Given the description of an element on the screen output the (x, y) to click on. 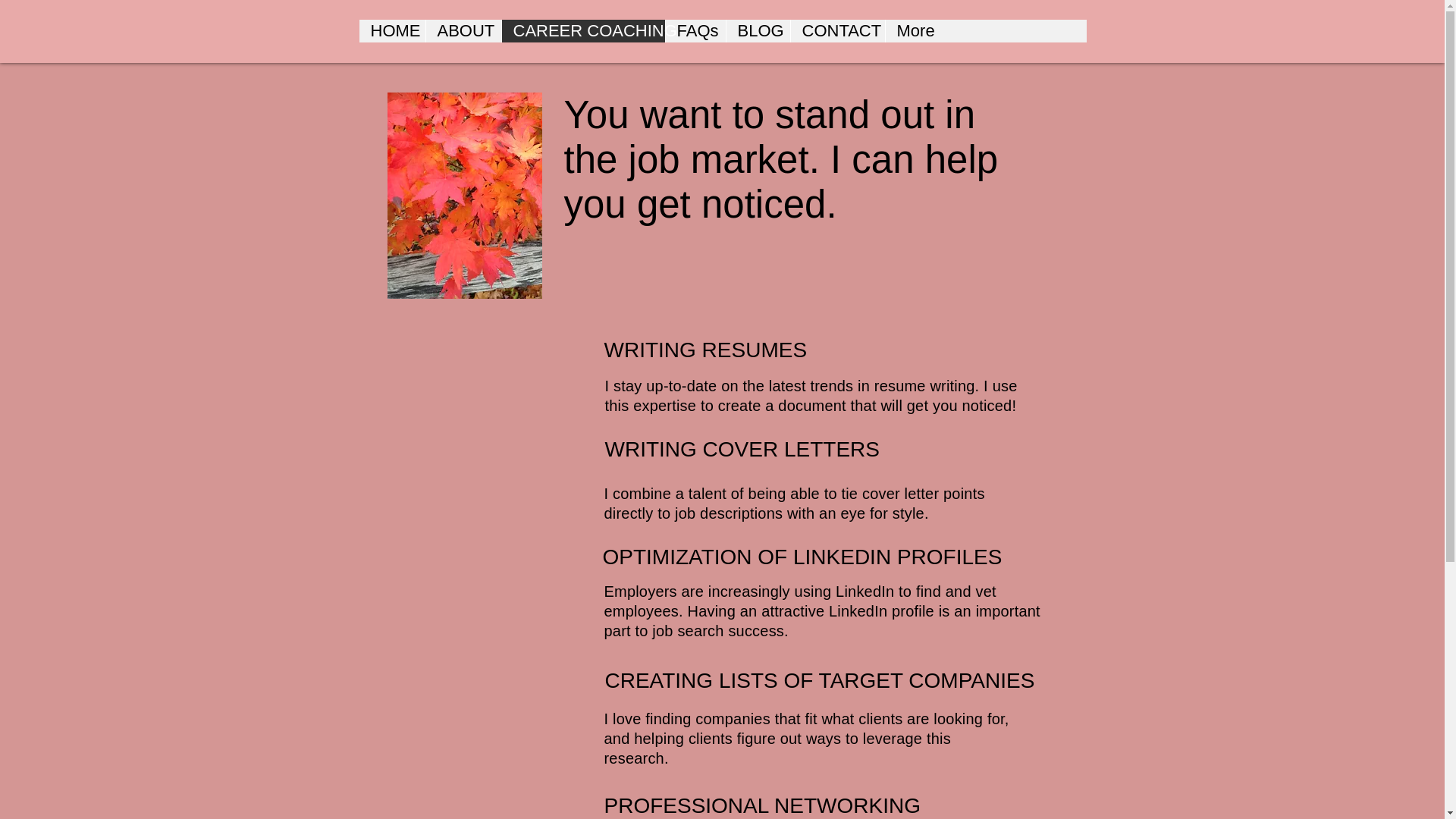
CAREER COACHING (581, 30)
HOME (392, 30)
CONTACT (837, 30)
FAQs (694, 30)
BLOG (757, 30)
ABOUT (462, 30)
